Given the description of an element on the screen output the (x, y) to click on. 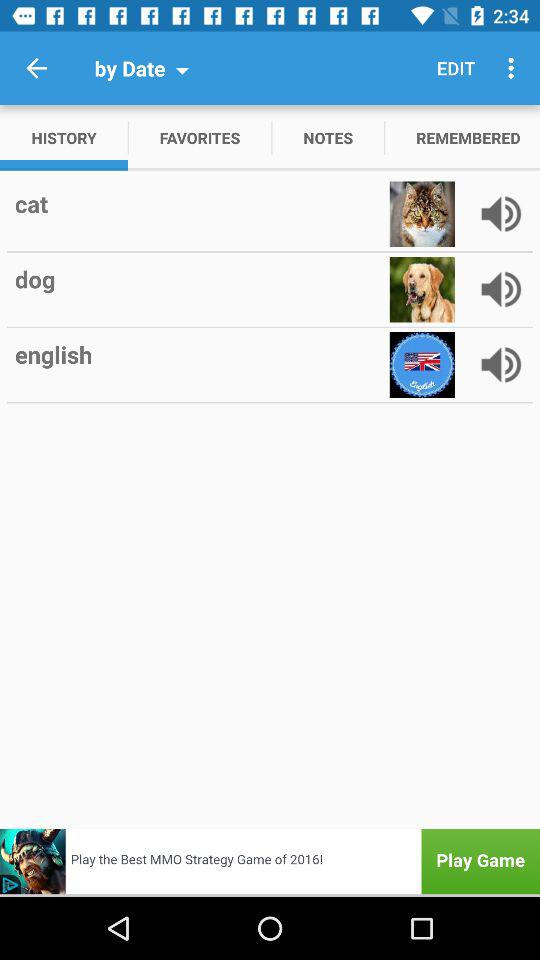
launch history app (64, 137)
